Given the description of an element on the screen output the (x, y) to click on. 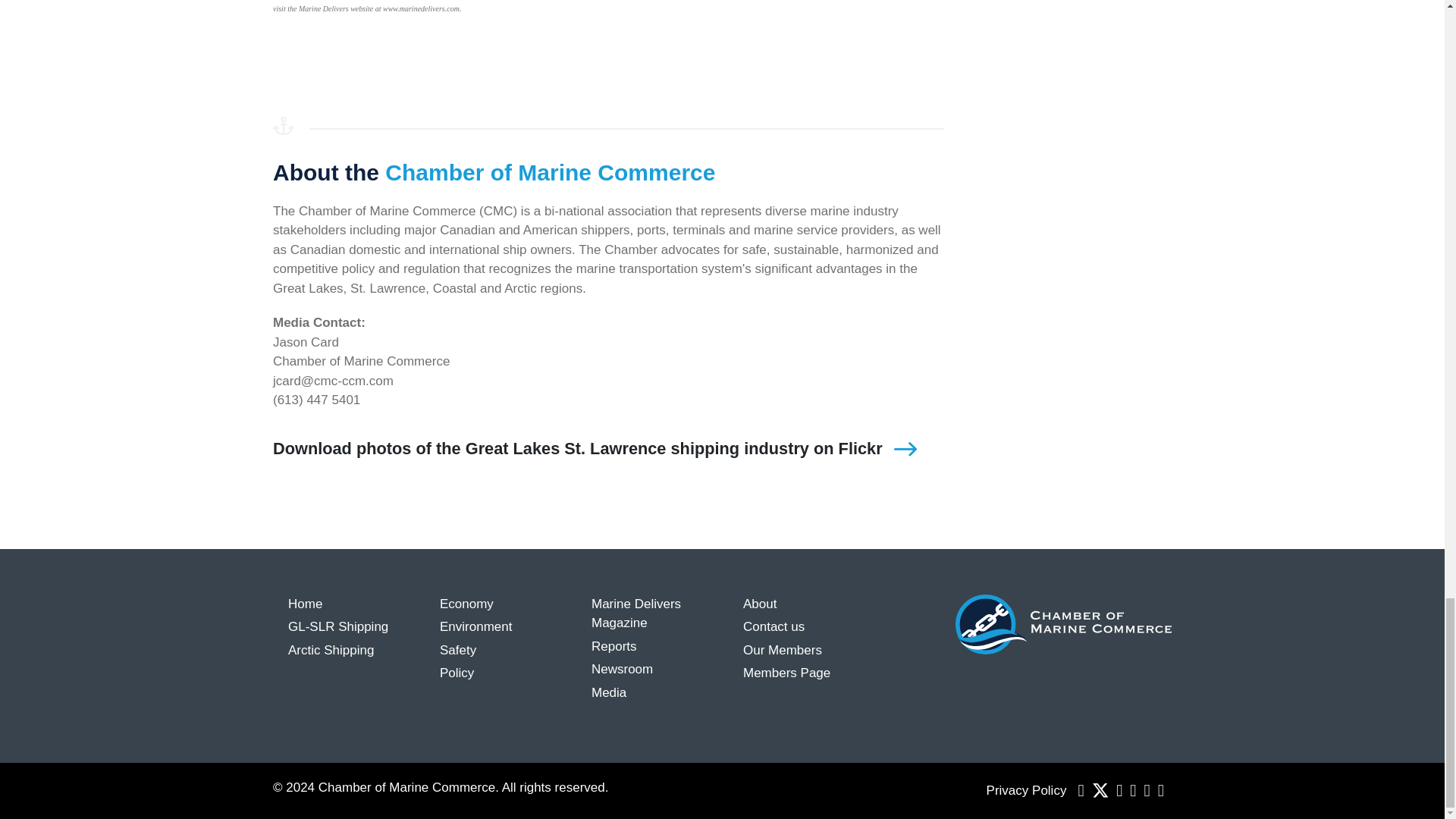
Chamber of Marine Commerce (1063, 623)
Like us on twitter (1100, 790)
